Given the description of an element on the screen output the (x, y) to click on. 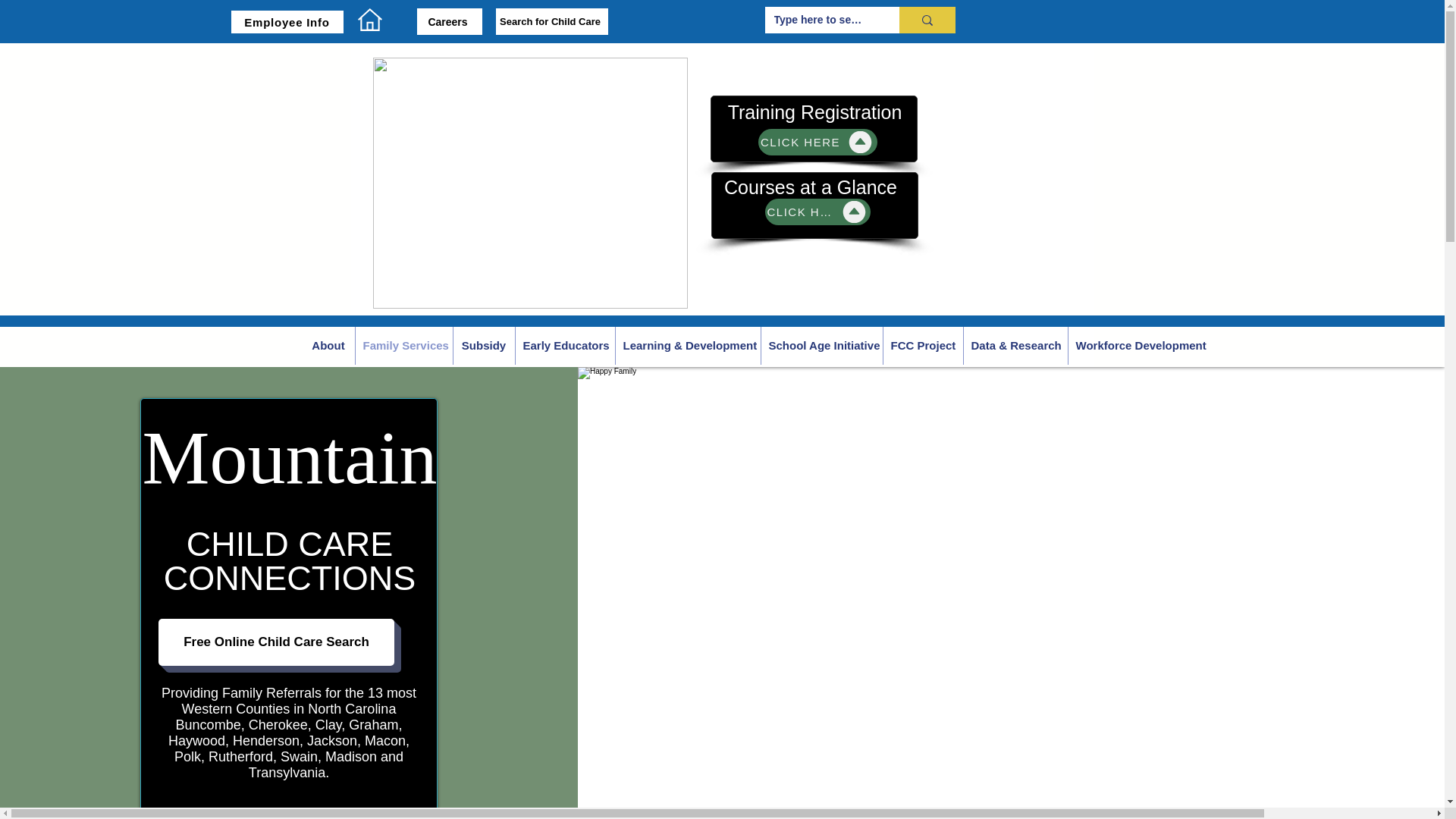
Subsidy (482, 345)
Employee Info (286, 21)
CLICK HERE (816, 212)
About (327, 345)
CLICK HERE (817, 141)
Final Agency Logo 5-2023.JPG (529, 182)
Family Services (403, 345)
Search for Child Care (552, 21)
Careers (448, 21)
Early Educators (563, 345)
School Age Initiative (821, 345)
